Given the description of an element on the screen output the (x, y) to click on. 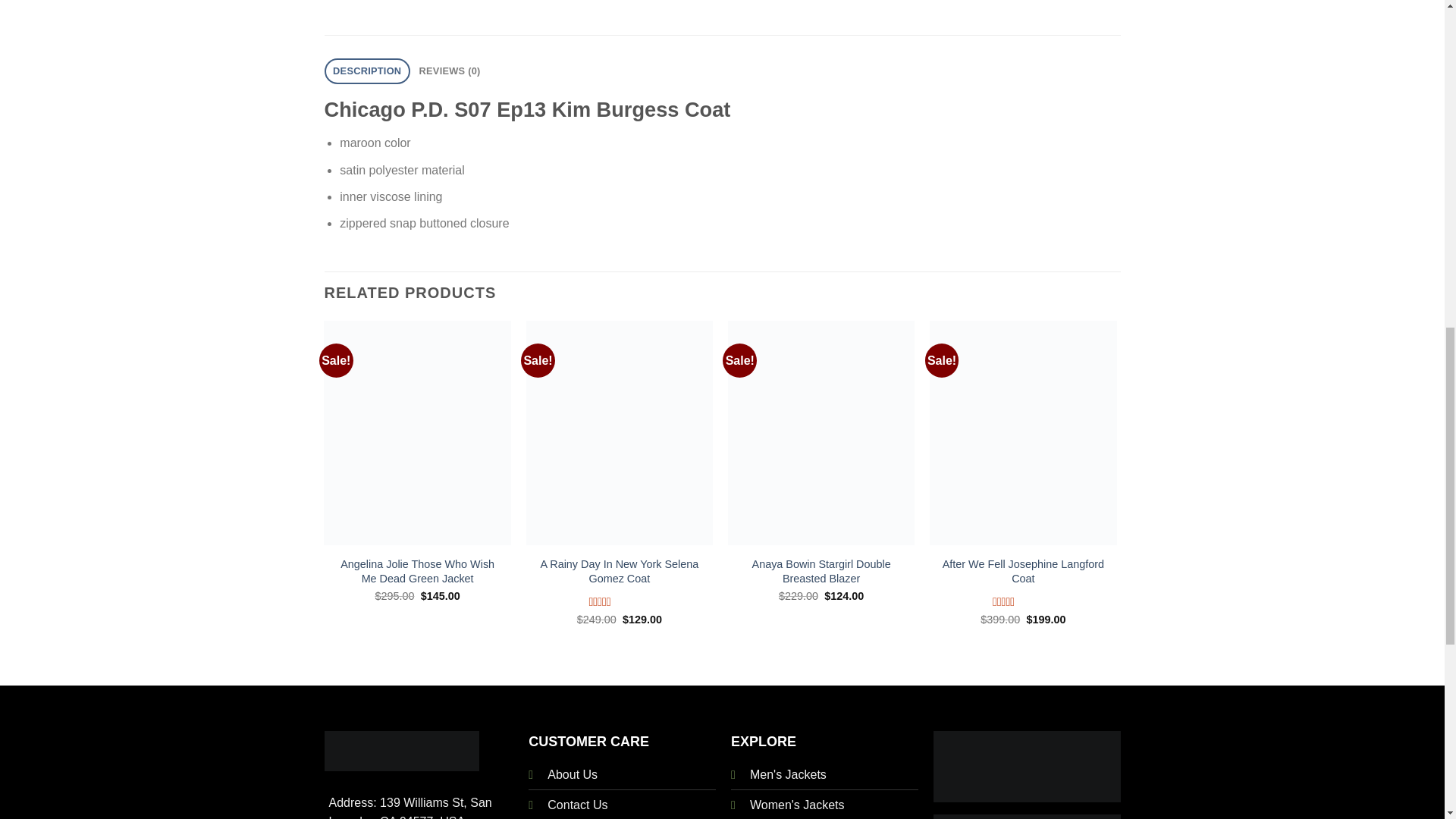
DESCRIPTION (367, 71)
